Given the description of an element on the screen output the (x, y) to click on. 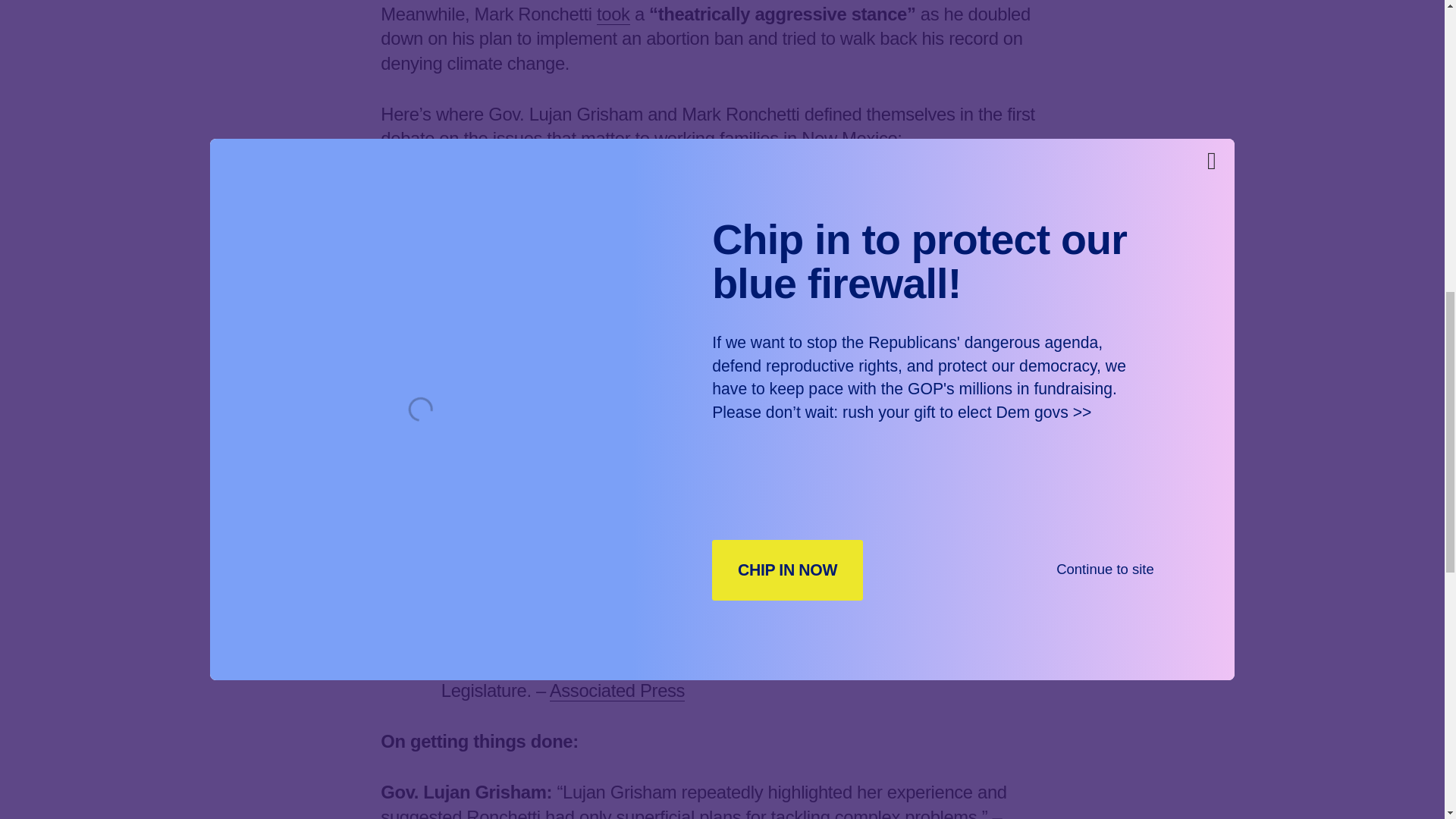
Associated Press (617, 690)
took (613, 14)
Associated Press (838, 263)
KUNM (566, 515)
KUNM (799, 340)
